Given the description of an element on the screen output the (x, y) to click on. 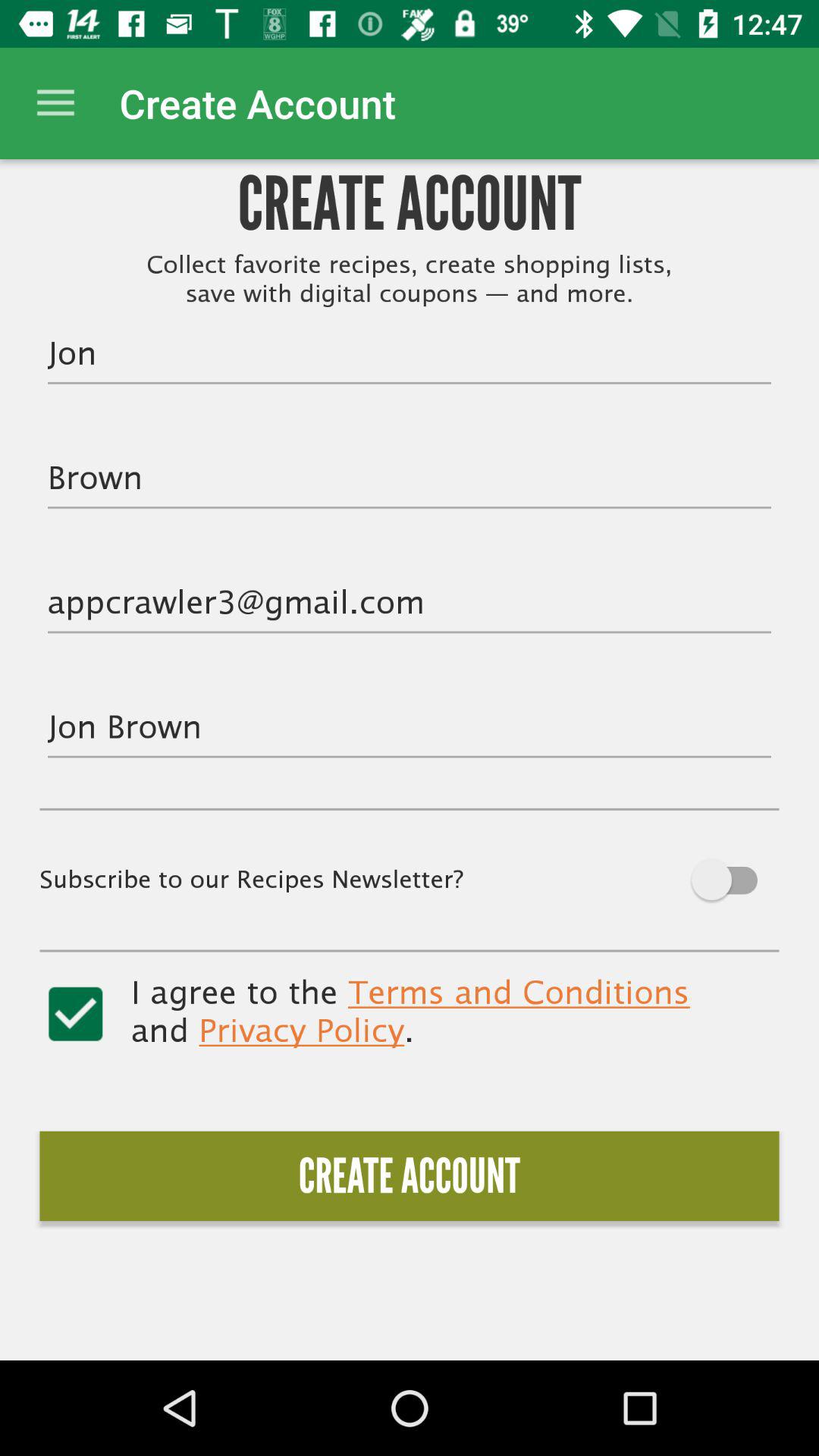
toggle autoplay option (699, 879)
